Given the description of an element on the screen output the (x, y) to click on. 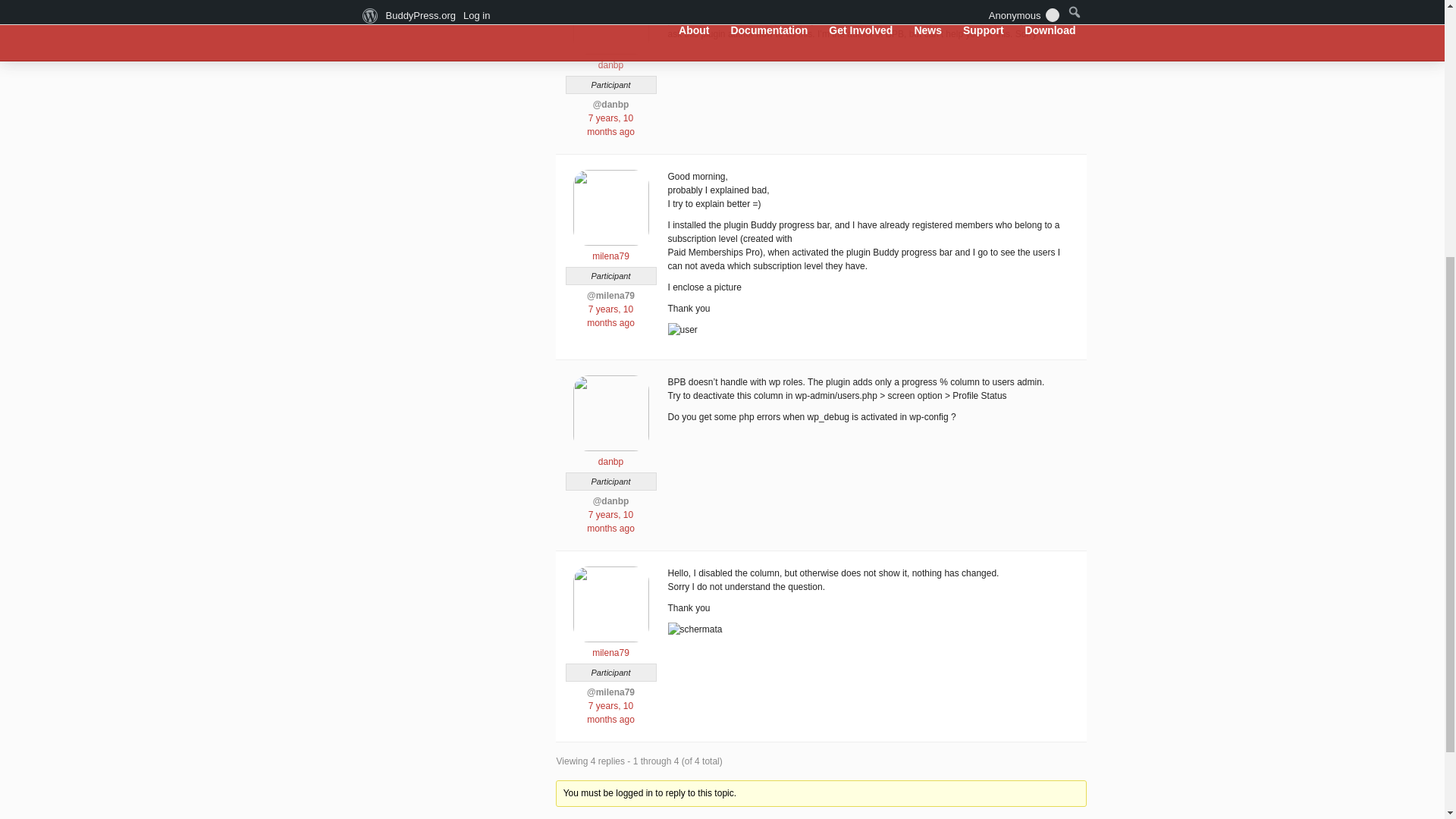
7 years, 10 months ago (610, 125)
milena79 (609, 249)
7 years, 10 months ago (610, 712)
7 years, 10 months ago (610, 521)
danbp (609, 58)
milena79 (609, 646)
danbp (609, 455)
7 years, 10 months ago (610, 315)
